Given the description of an element on the screen output the (x, y) to click on. 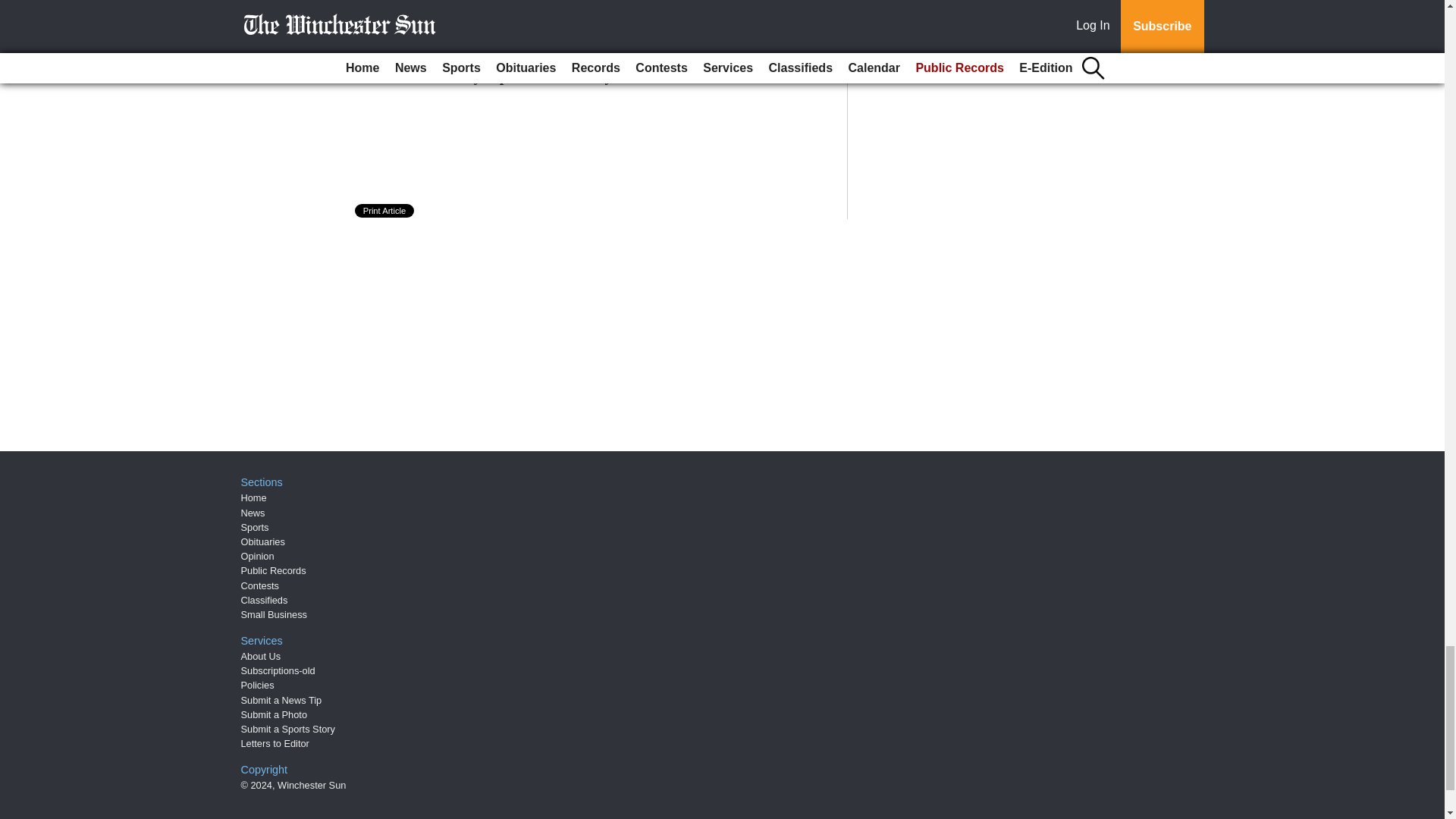
Enoch: Turkey capital of Kentucky (498, 75)
Enoch: Turkey capital of Kentucky (498, 75)
Print Article (384, 210)
